Given the description of an element on the screen output the (x, y) to click on. 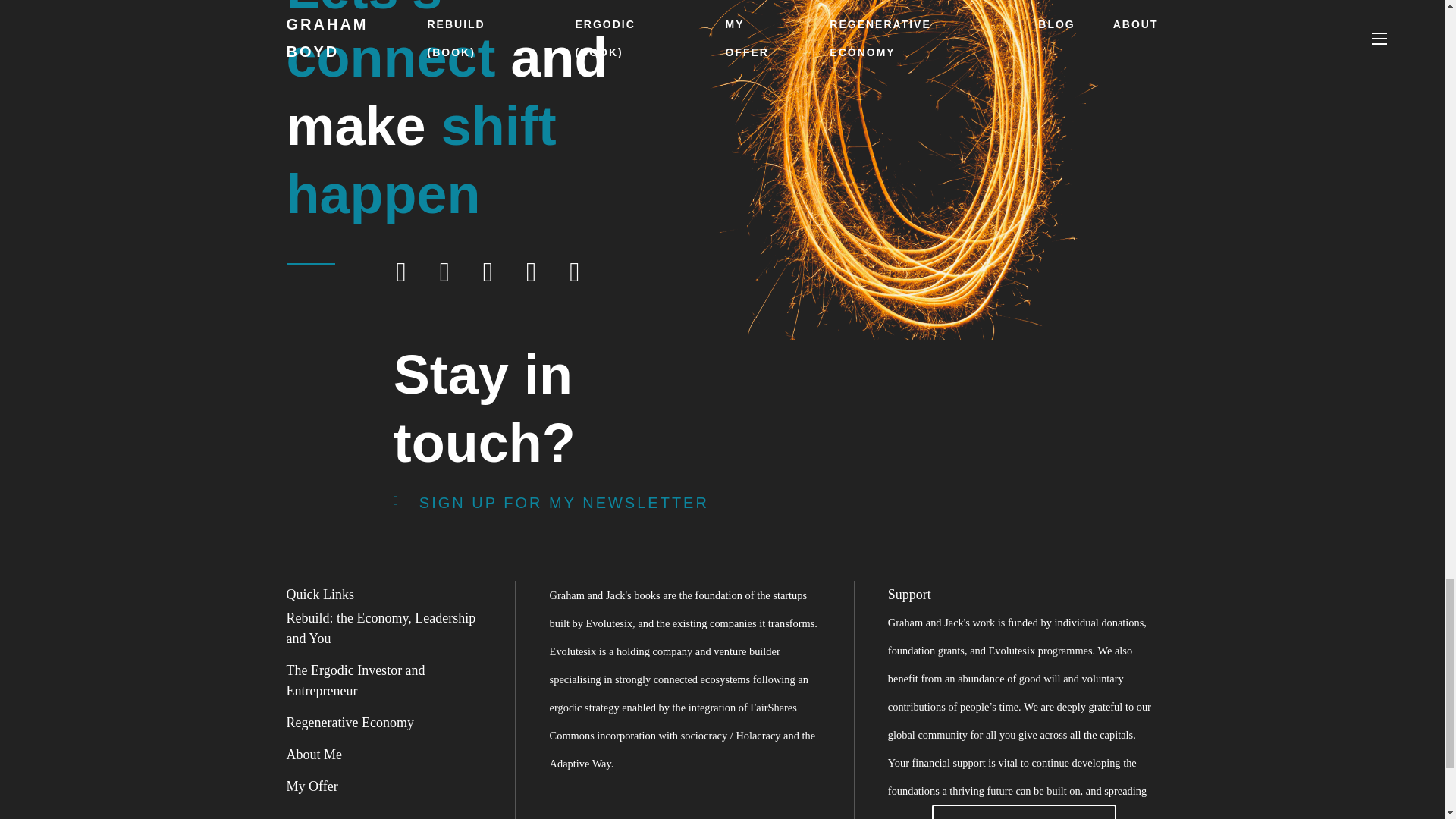
Rebuild: the Economy, Leadership and You (381, 628)
The Ergodic Investor and Entrepreneur (355, 680)
CONTRIBUTE HERE (1023, 811)
About Me (314, 754)
SIGN UP FOR MY NEWSLETTER (551, 502)
Regenerative Economy (349, 722)
My Offer (311, 785)
